Given the description of an element on the screen output the (x, y) to click on. 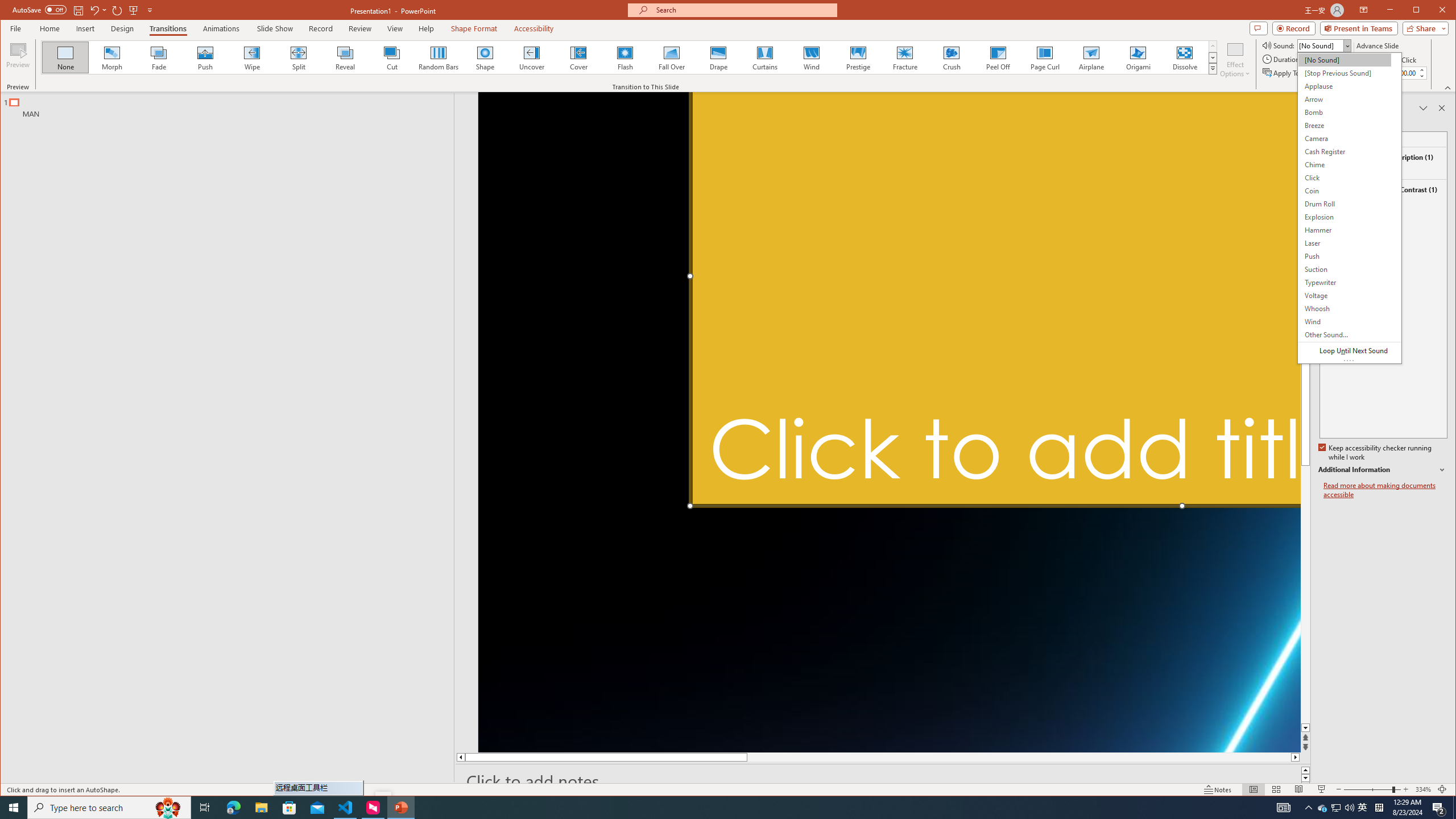
Wipe (251, 57)
View (395, 28)
Sound (1324, 45)
Visual Studio Code - 1 running window (345, 807)
File Tab (15, 27)
From Beginning (133, 9)
Transition Effects (1212, 68)
Show desktop (1454, 807)
Type here to search (108, 807)
Slide Show (274, 28)
Save (77, 9)
Wind (810, 57)
Origami (1138, 57)
Preview (17, 59)
